Given the description of an element on the screen output the (x, y) to click on. 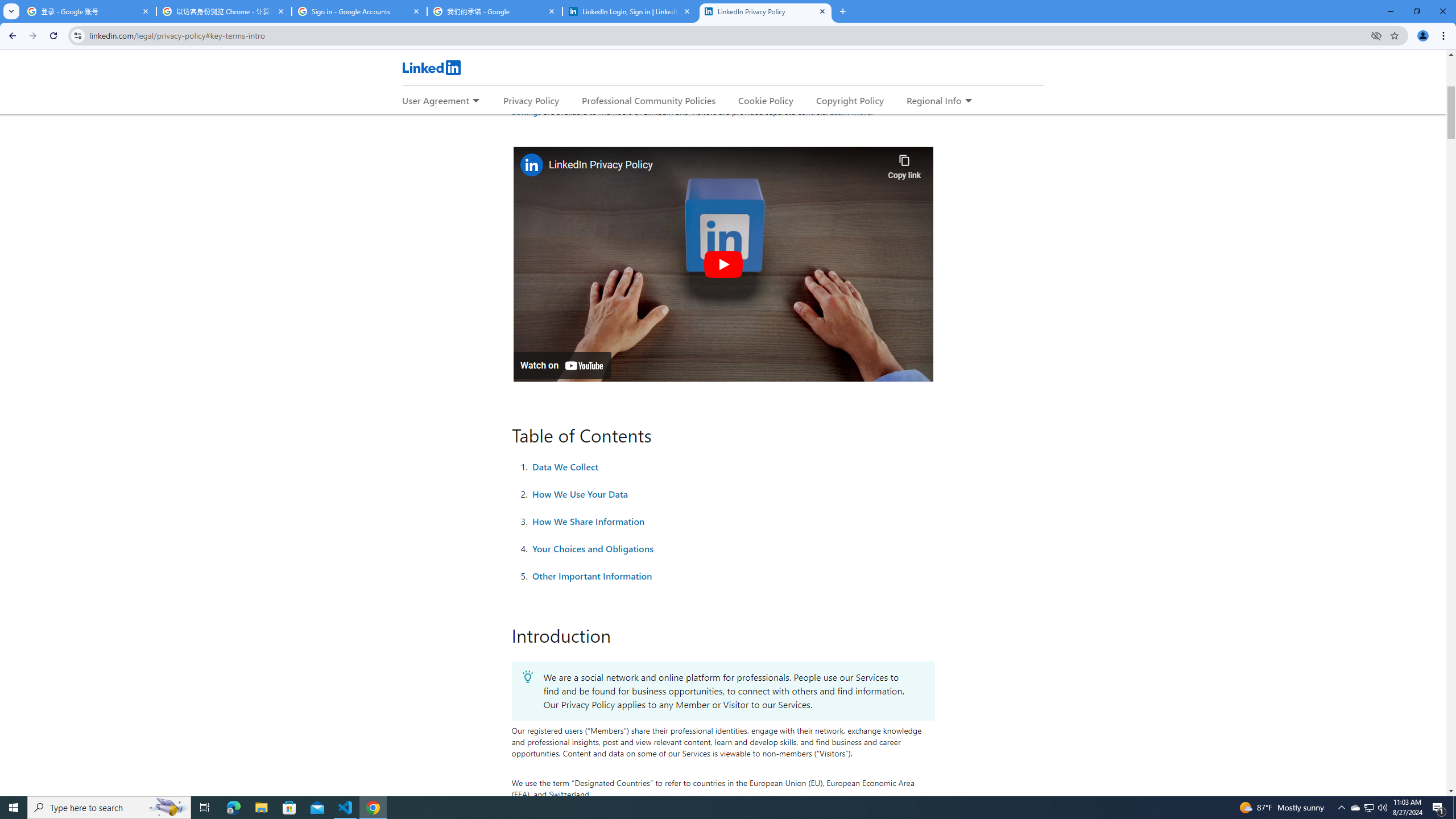
How We Use Your Data (579, 494)
User Agreement (434, 100)
Your Choices and Obligations (592, 548)
Other Important Information (592, 576)
Data We Collect (565, 466)
Key Terms  (539, 56)
LinkedIn Privacy Policy (715, 164)
Regional Info (933, 100)
Professional Community Policies (649, 100)
